Given the description of an element on the screen output the (x, y) to click on. 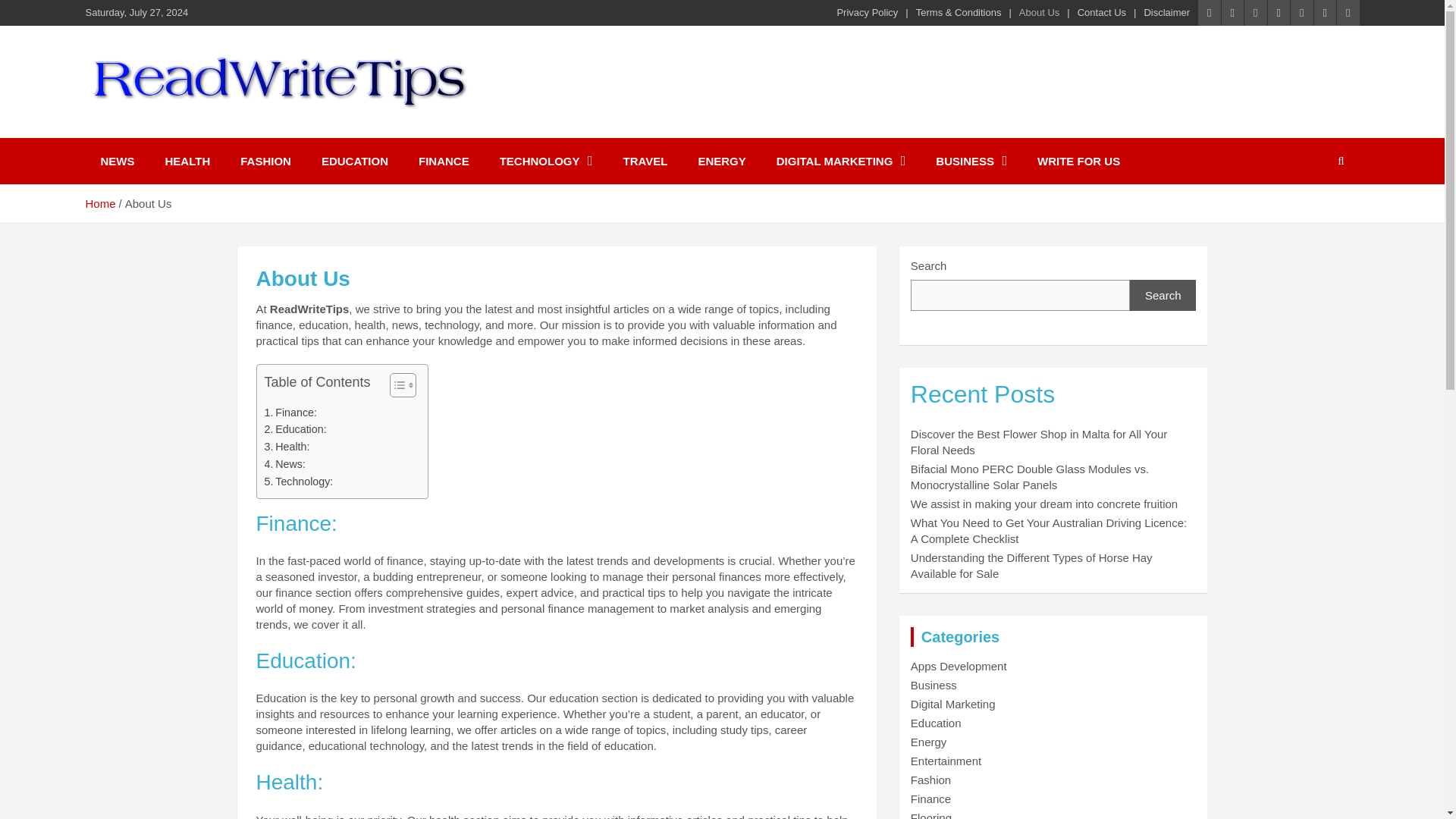
EDUCATION (354, 161)
Privacy Policy (866, 12)
NEWS (116, 161)
Technology:  (298, 481)
TRAVEL (644, 161)
Finance: (289, 412)
HEALTH (187, 161)
FINANCE (443, 161)
Home (99, 203)
ENERGY (721, 161)
Education:  (294, 429)
FASHION (265, 161)
BUSINESS (971, 161)
News:  (283, 464)
TECHNOLOGY (546, 161)
